Given the description of an element on the screen output the (x, y) to click on. 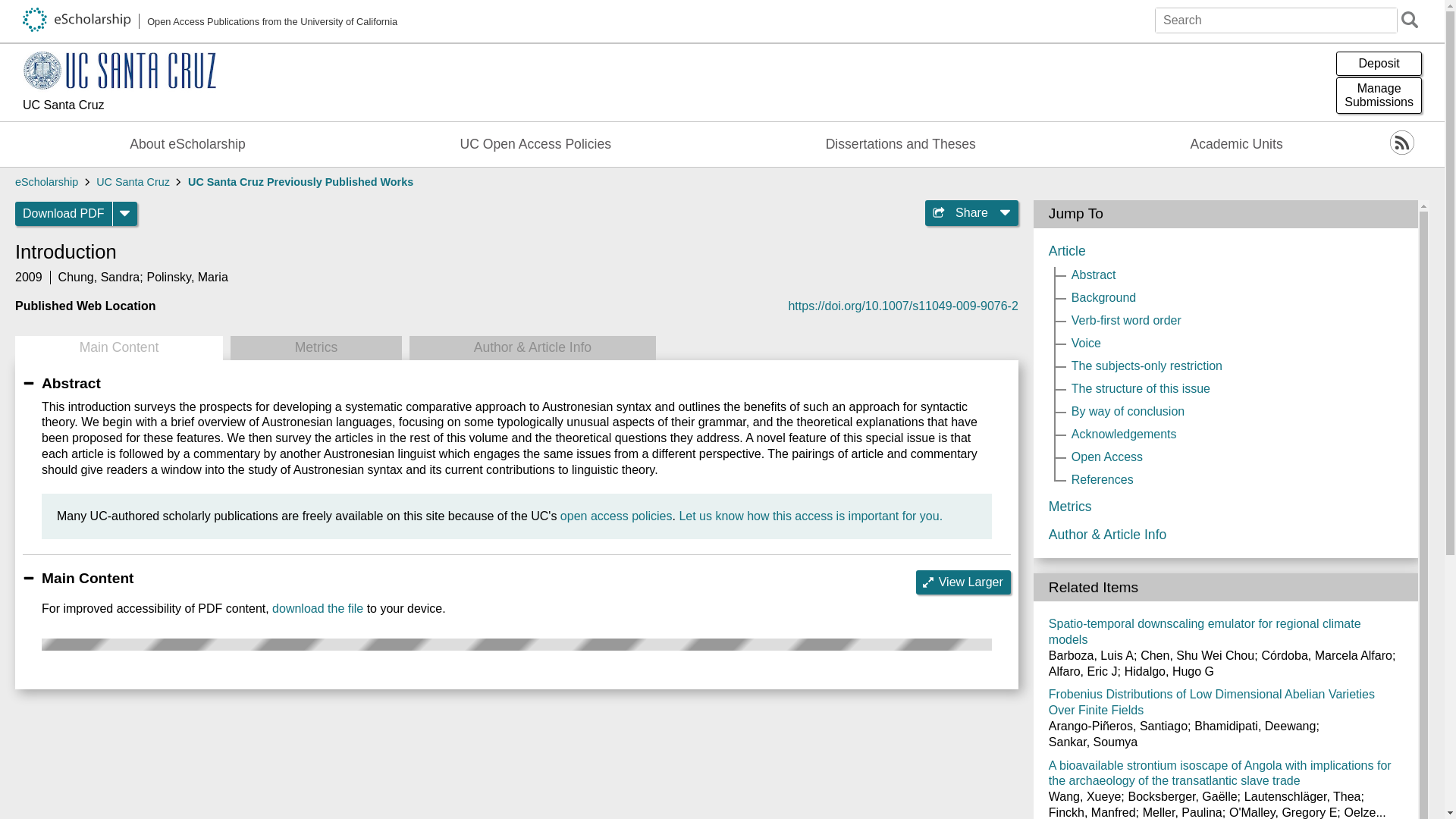
UC Santa Cruz (133, 182)
UC Santa Cruz Previously Published Works (300, 182)
Metrics (315, 347)
Dissertations and Theses (901, 143)
UC Open Access Policies (535, 143)
UC Santa Cruz (119, 105)
Let us know how this access is important for you. (810, 515)
Download PDF (63, 213)
Academic Units (1236, 143)
Main Content (118, 347)
